Given the description of an element on the screen output the (x, y) to click on. 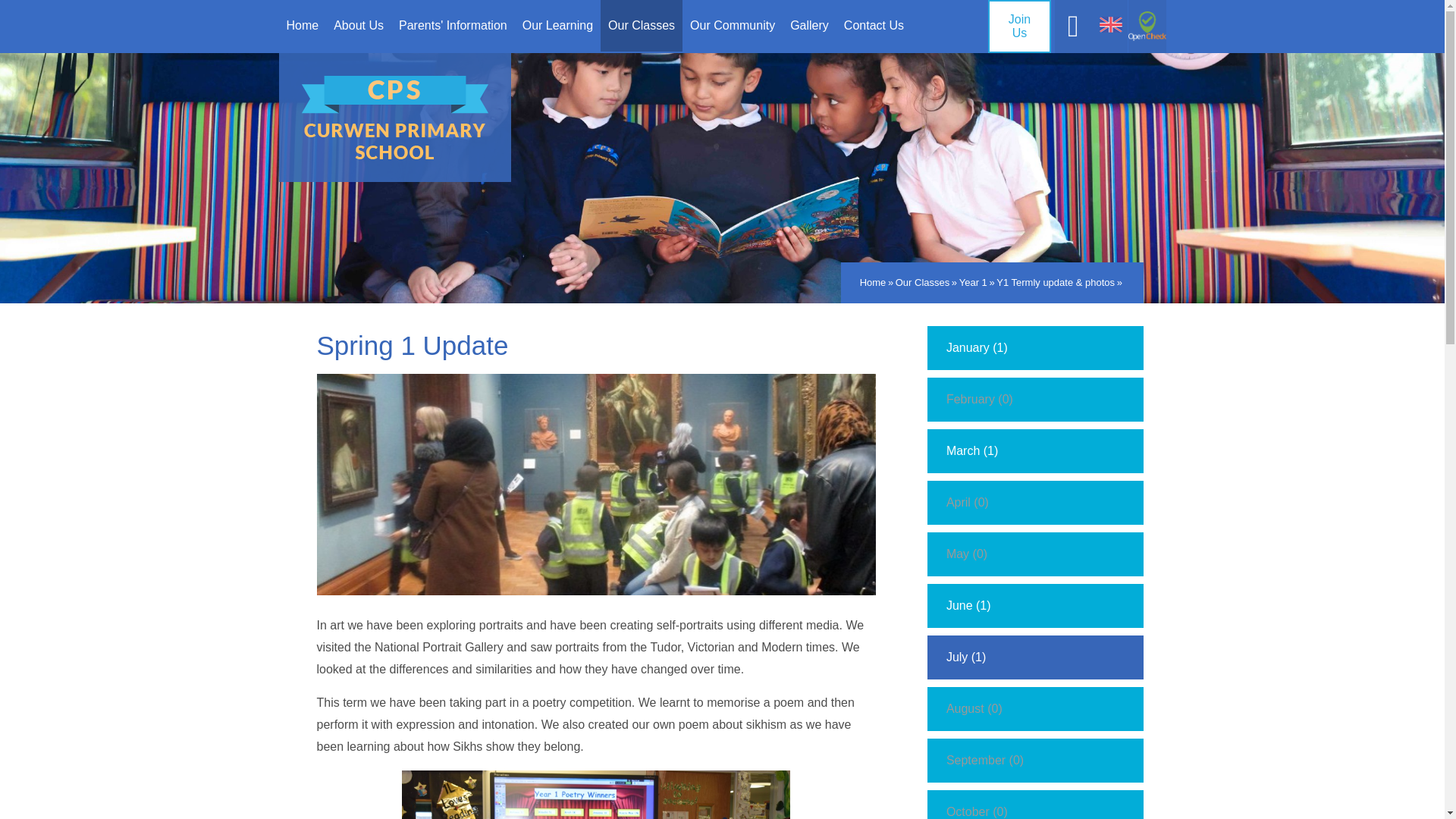
About Us (358, 25)
Home (302, 25)
Parents' Information (453, 25)
